Given the description of an element on the screen output the (x, y) to click on. 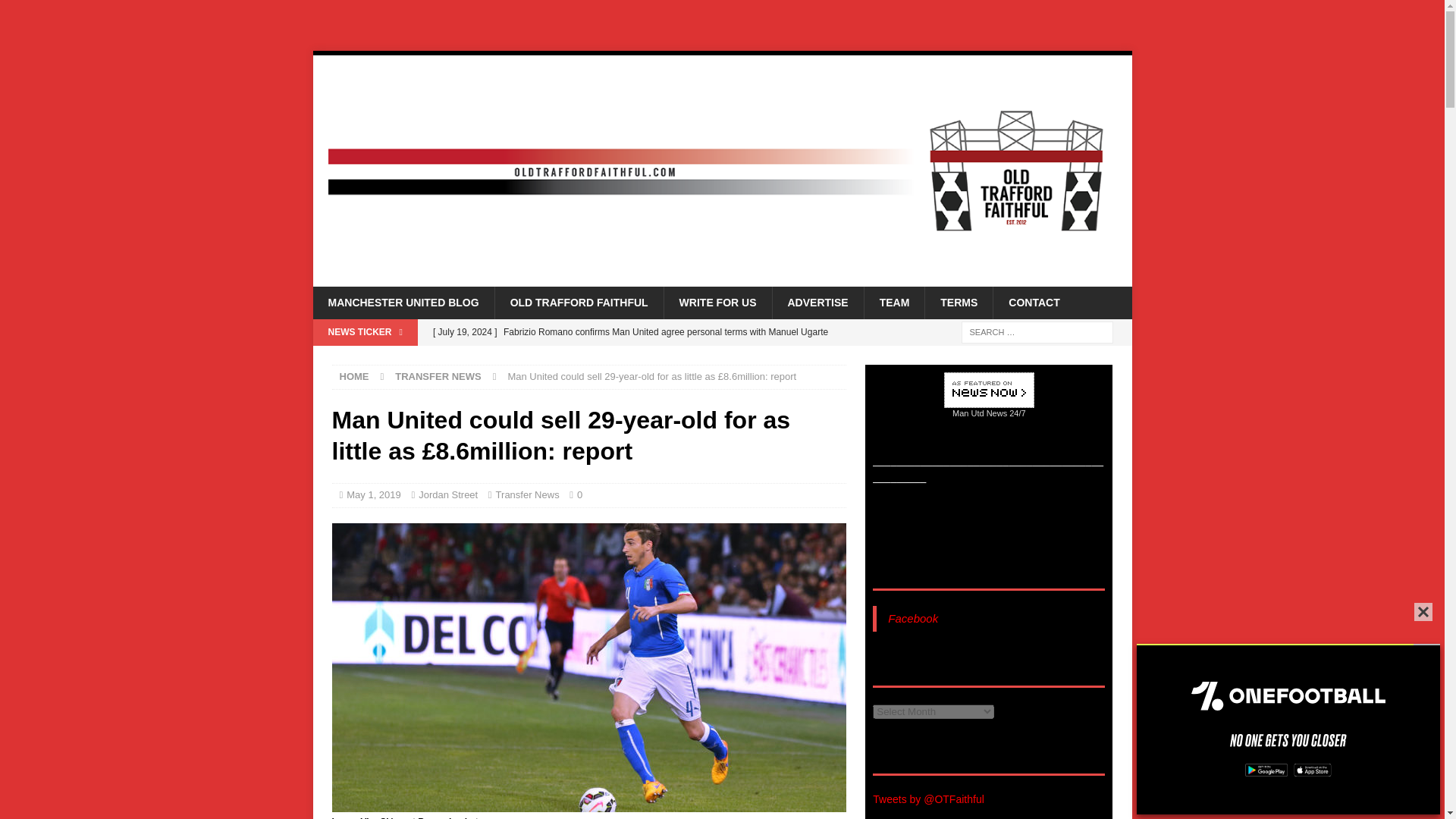
Search (56, 11)
MANCHESTER UNITED BLOG (403, 302)
TEAM (893, 302)
Transfer News (527, 494)
Jordan Street (448, 494)
May 1, 2019 (373, 494)
OLD TRAFFORD FAITHFUL (579, 302)
HOME (354, 376)
TRANSFER NEWS (437, 376)
TERMS (958, 302)
WRITE FOR US (717, 302)
ADVERTISE (817, 302)
CONTACT (1033, 302)
